Given the description of an element on the screen output the (x, y) to click on. 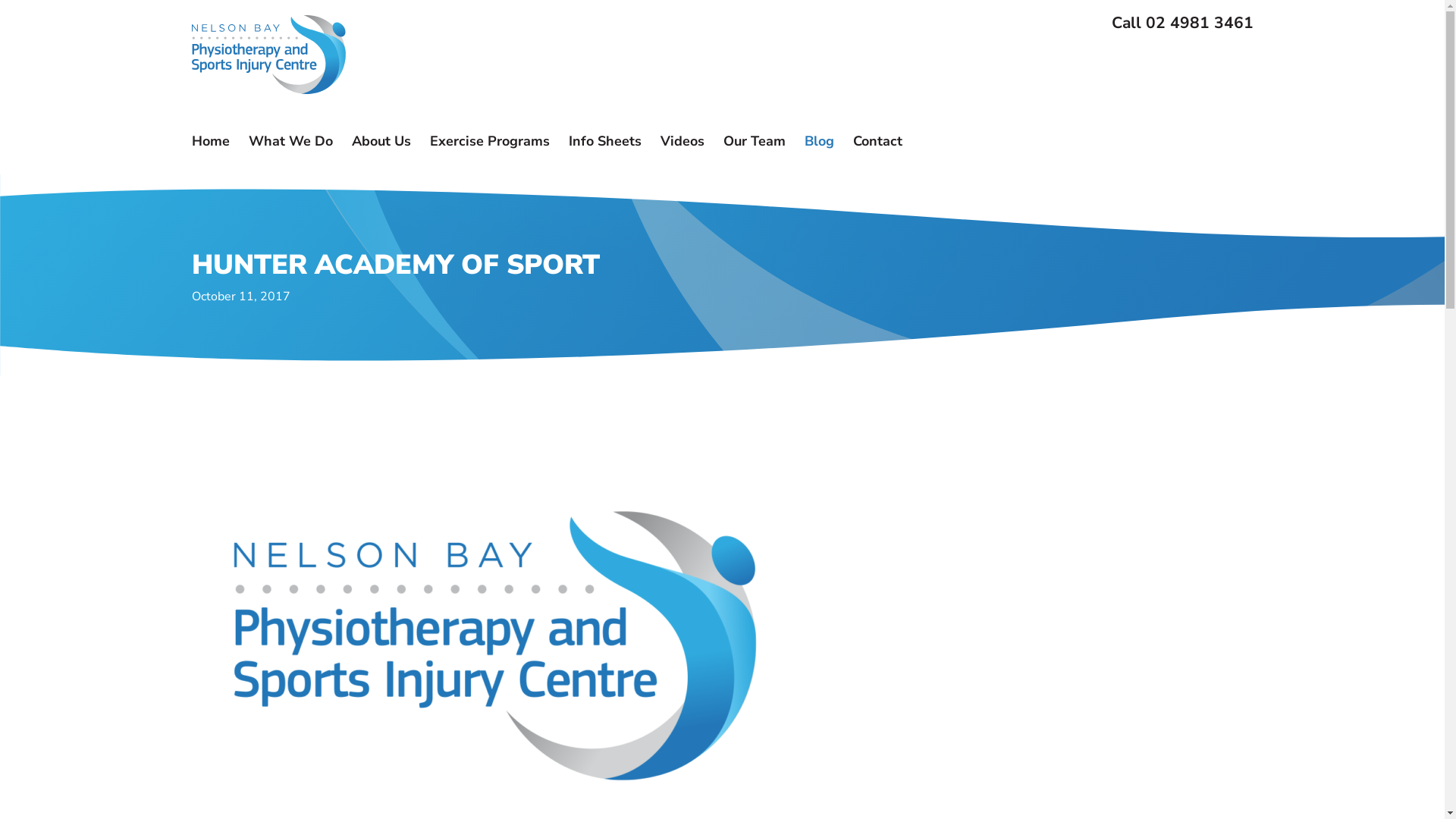
About Us Element type: text (381, 140)
Home Element type: text (210, 140)
Our Team Element type: text (754, 140)
Contact Element type: text (876, 140)
Exercise Programs Element type: text (489, 140)
Info Sheets Element type: text (604, 140)
Nelson Bay Physiotherapy Element type: hover (268, 54)
Blog Element type: text (818, 140)
Videos Element type: text (681, 140)
Call 02 4981 3461 Element type: text (1182, 22)
What We Do Element type: text (290, 140)
